Given the description of an element on the screen output the (x, y) to click on. 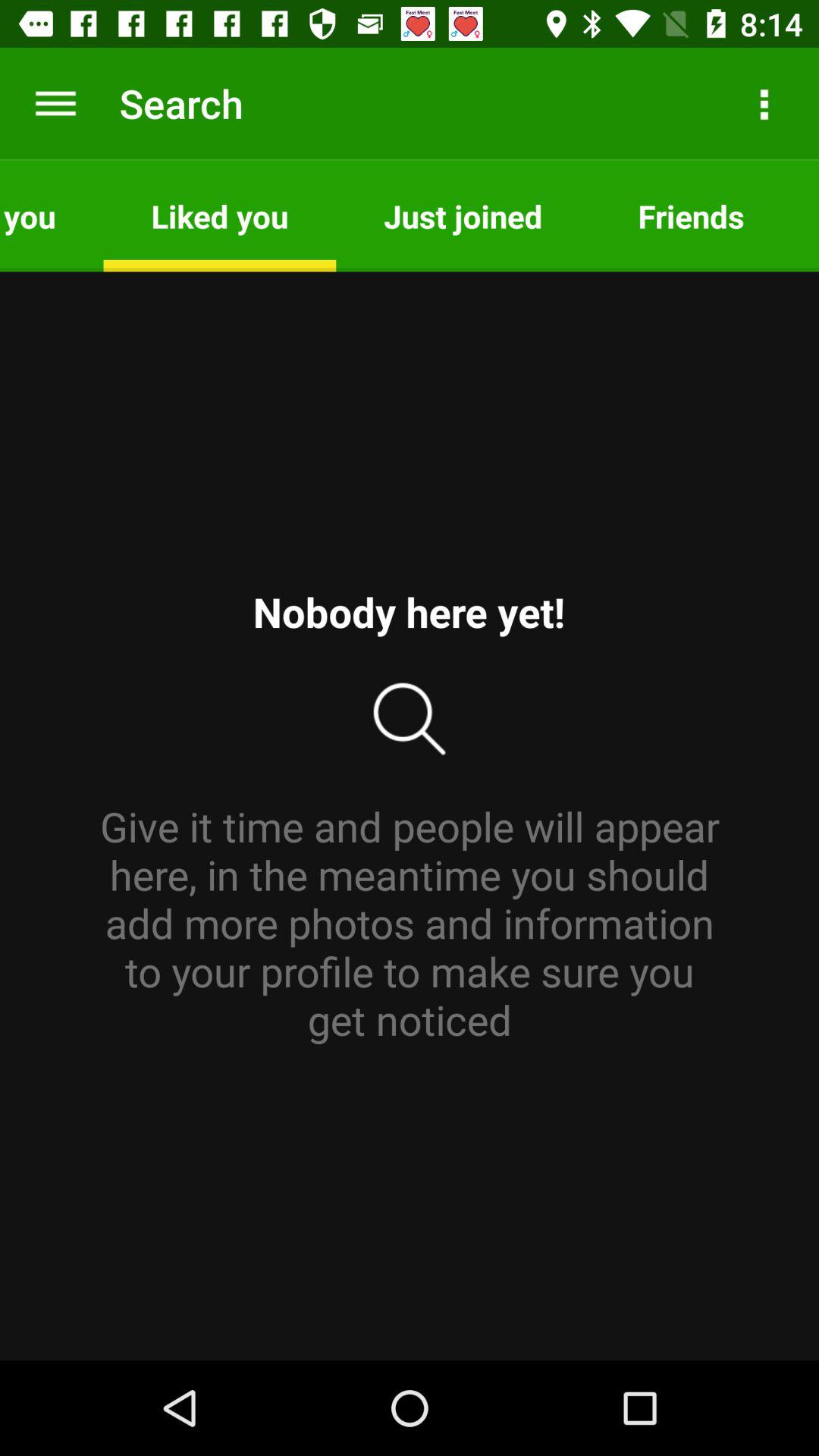
choose app above the give it time (691, 215)
